Given the description of an element on the screen output the (x, y) to click on. 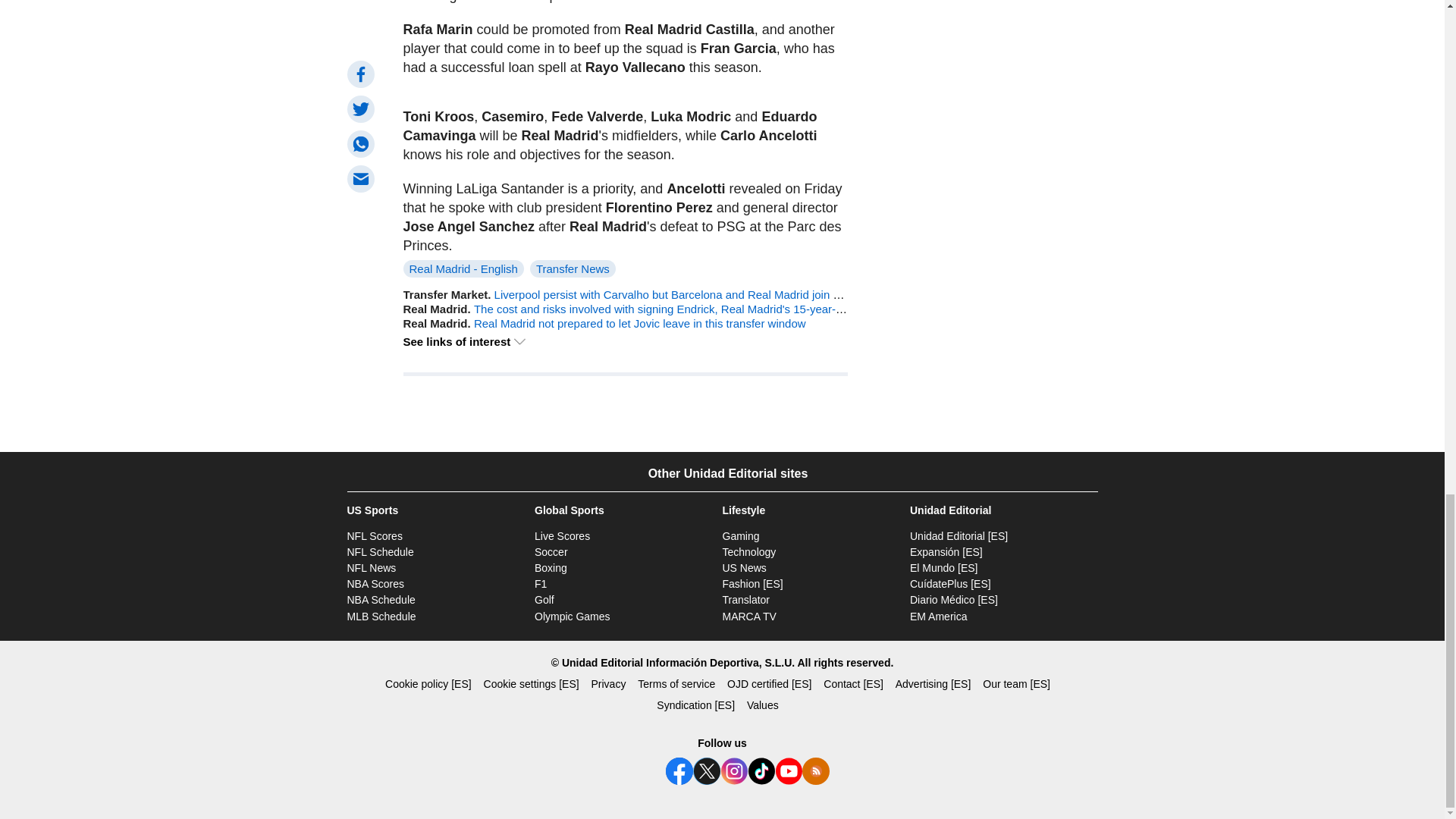
Open in new window (946, 551)
Open in new window (752, 583)
Open in new window (746, 599)
Open in new window (958, 535)
Open in new window (944, 567)
